Given the description of an element on the screen output the (x, y) to click on. 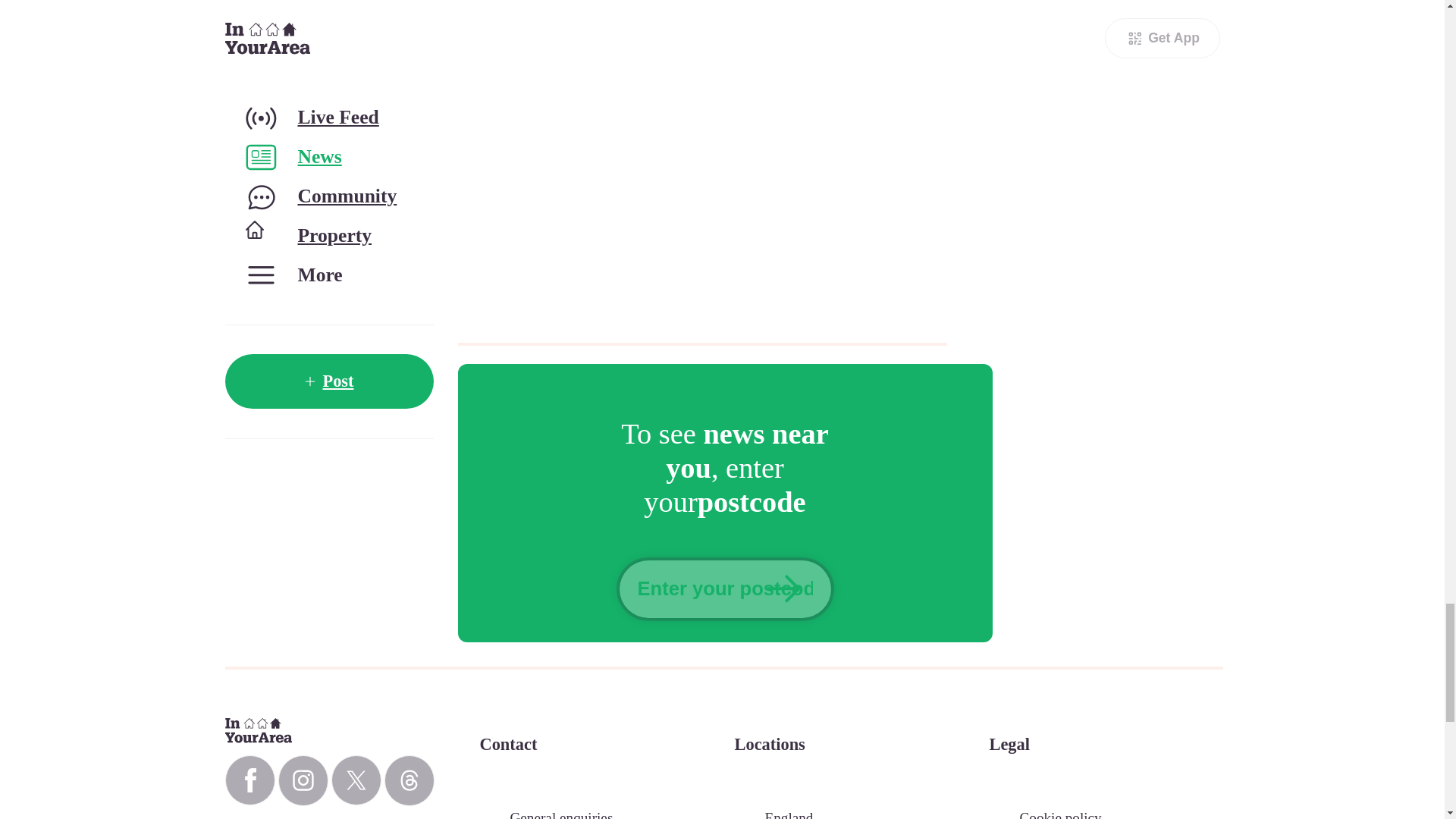
InYourArea Facebook (249, 780)
InYourArea Threads (408, 780)
InYourArea Instagram (302, 780)
InYourArea X (355, 780)
